Given the description of an element on the screen output the (x, y) to click on. 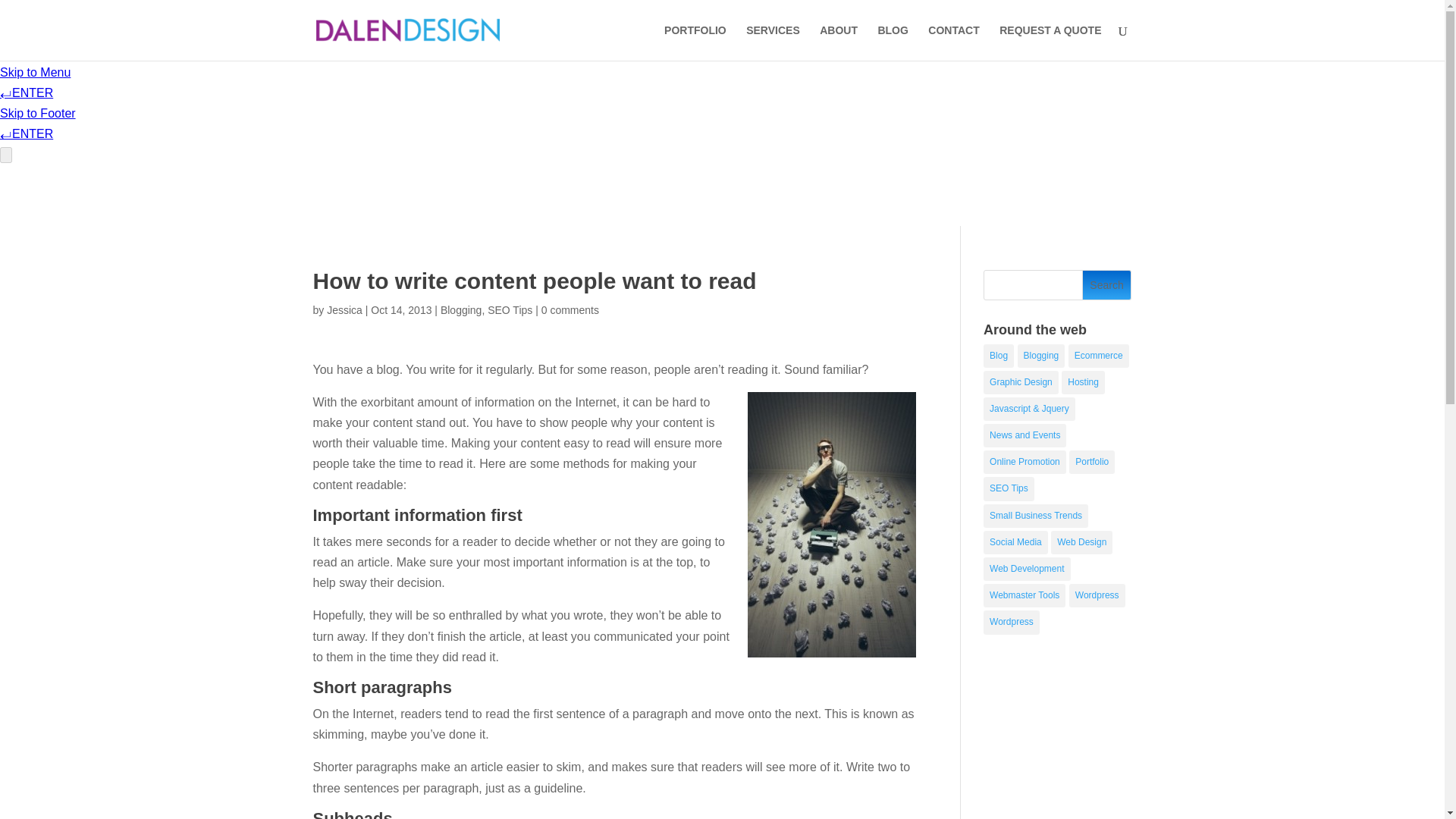
BLOG (892, 42)
Search (1106, 285)
Blogging (1041, 355)
SERVICES (772, 42)
CONTACT (953, 42)
REQUEST A QUOTE (1049, 42)
SEO Tips (509, 309)
Ecommerce (1098, 355)
News and Events (1024, 435)
Blogging (461, 309)
PORTFOLIO (694, 42)
Search (1106, 285)
Blog (998, 355)
Jessica (344, 309)
0 comments (569, 309)
